Given the description of an element on the screen output the (x, y) to click on. 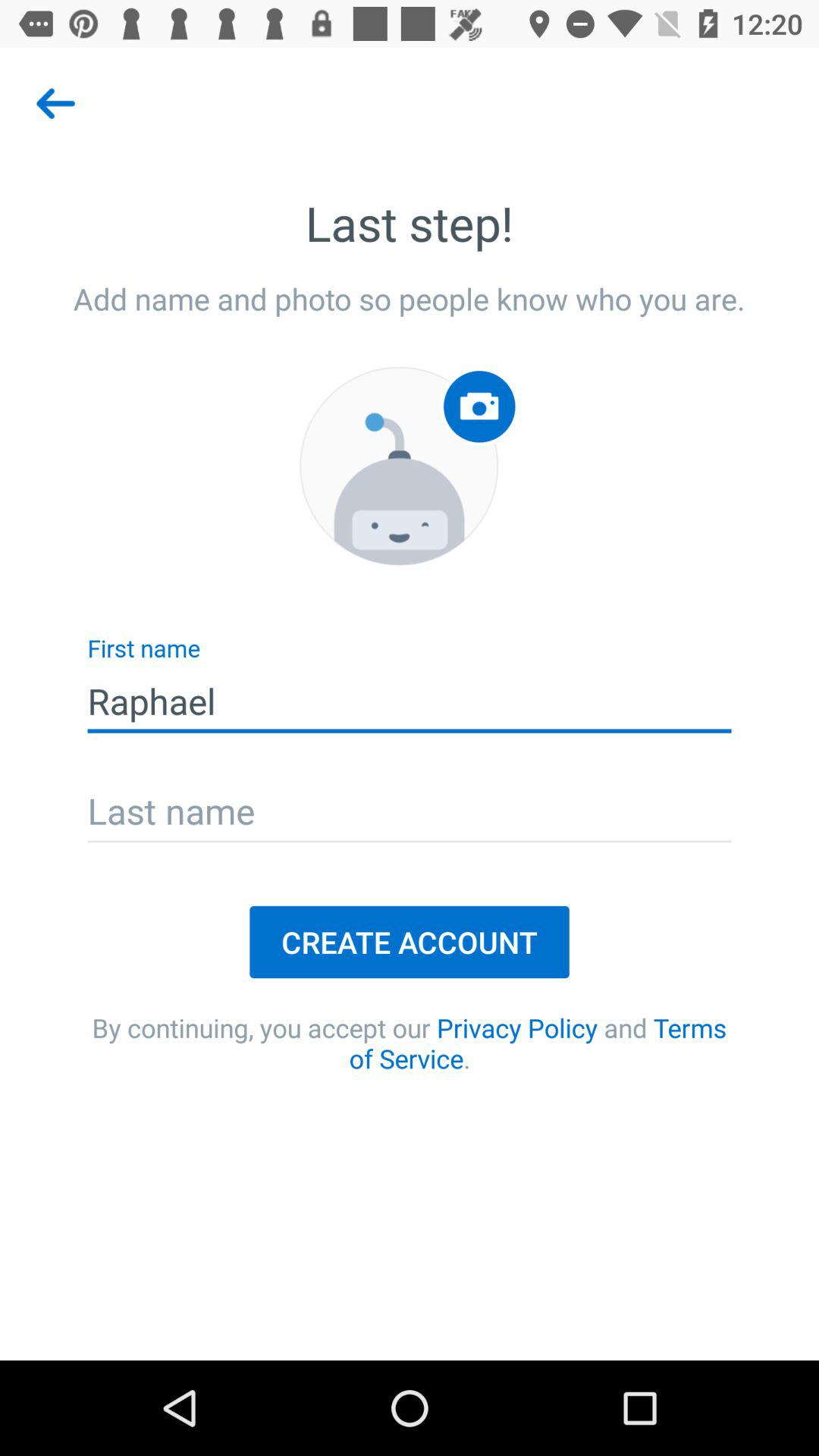
select item below the create account icon (409, 1043)
